Given the description of an element on the screen output the (x, y) to click on. 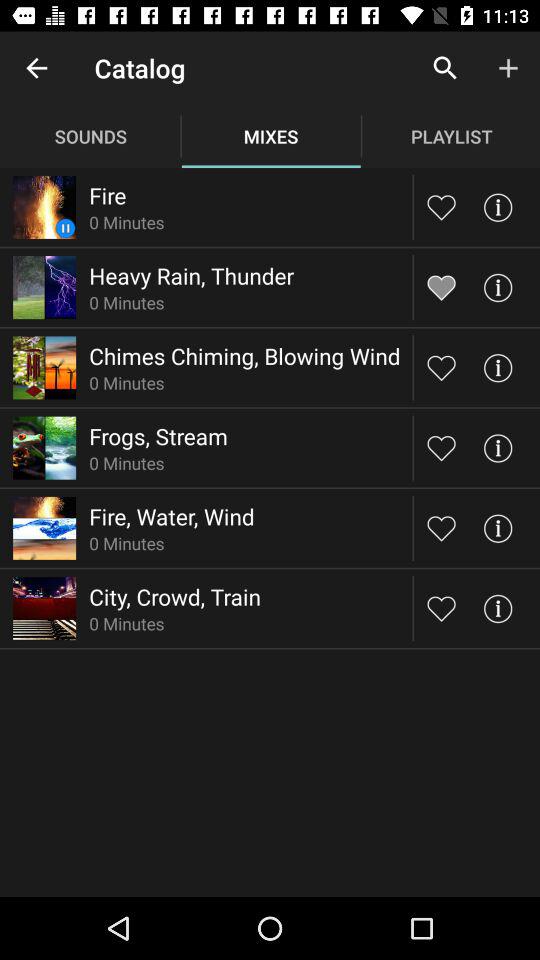
get more info (498, 447)
